Given the description of an element on the screen output the (x, y) to click on. 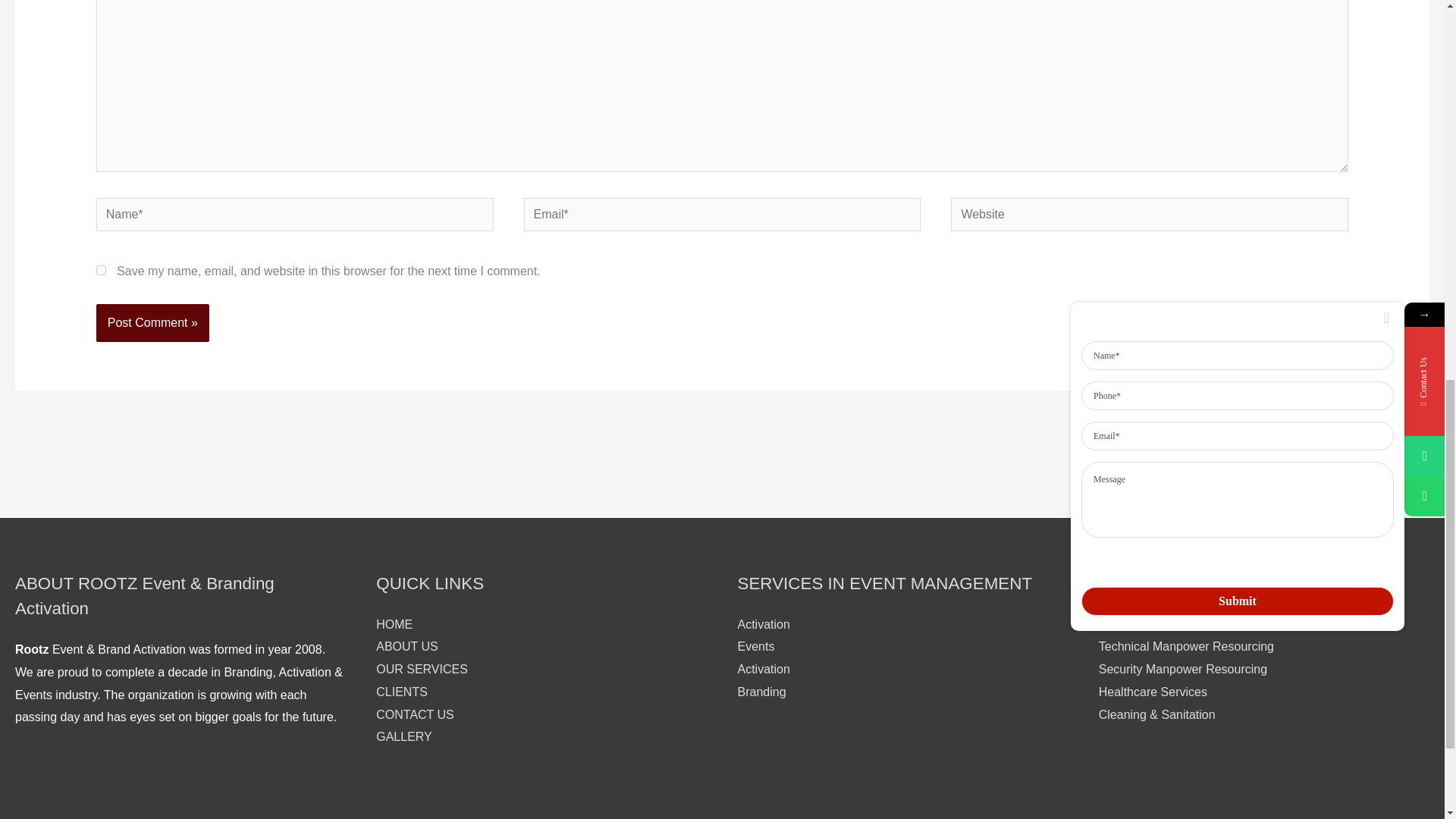
ABOUT US (406, 645)
yes (101, 270)
OUR SERVICES (421, 668)
HOME (393, 624)
